Given the description of an element on the screen output the (x, y) to click on. 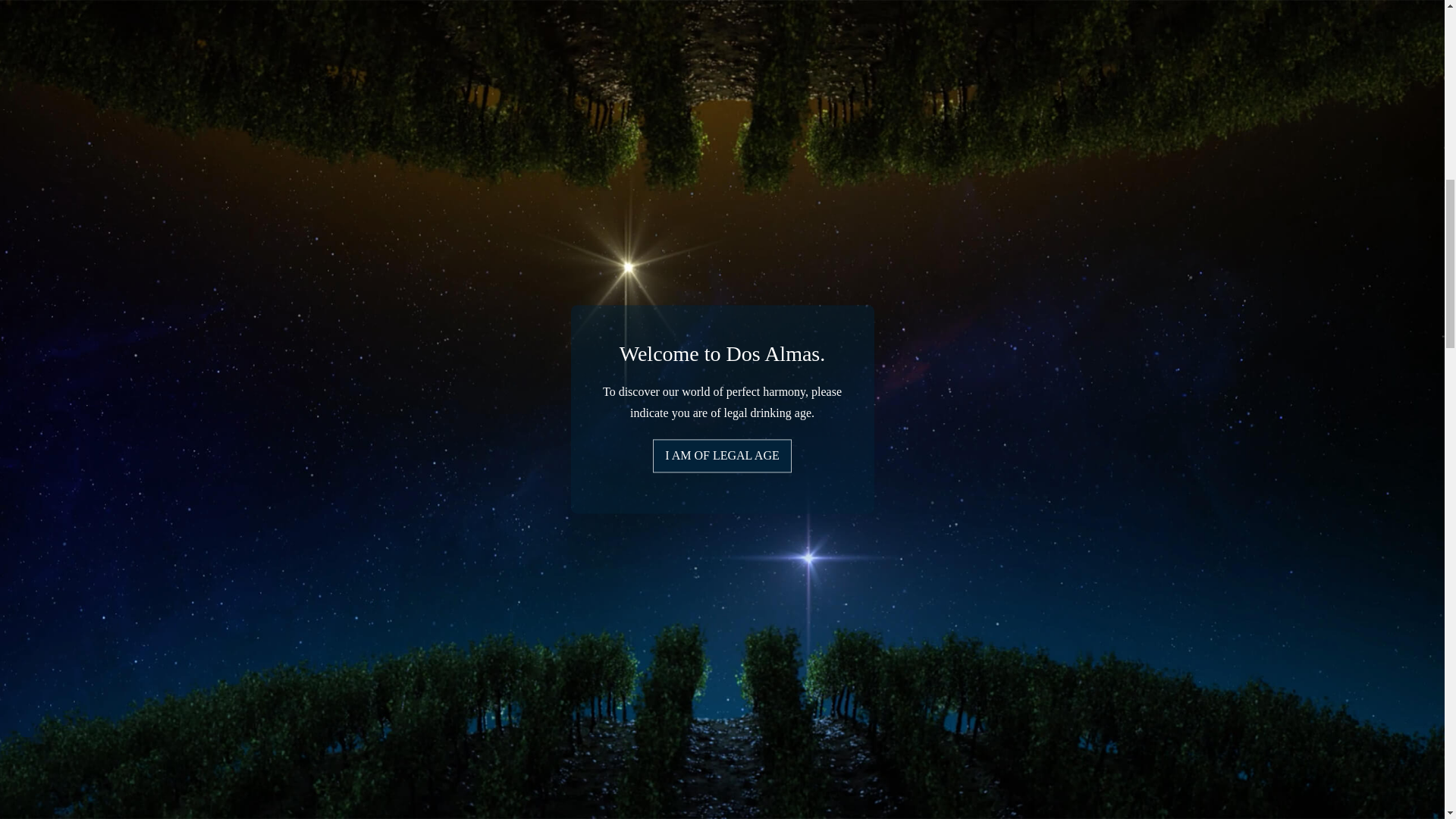
Search (234, 446)
Online casino (33, 355)
1xbet Mobile Yukle, 1xbet Proqrami Yuklemek (114, 522)
Hello world! (172, 661)
A WordPress Commenter (61, 661)
Uncategorized (82, 285)
Search (234, 446)
Search (234, 446)
August 2024 (31, 731)
